Given the description of an element on the screen output the (x, y) to click on. 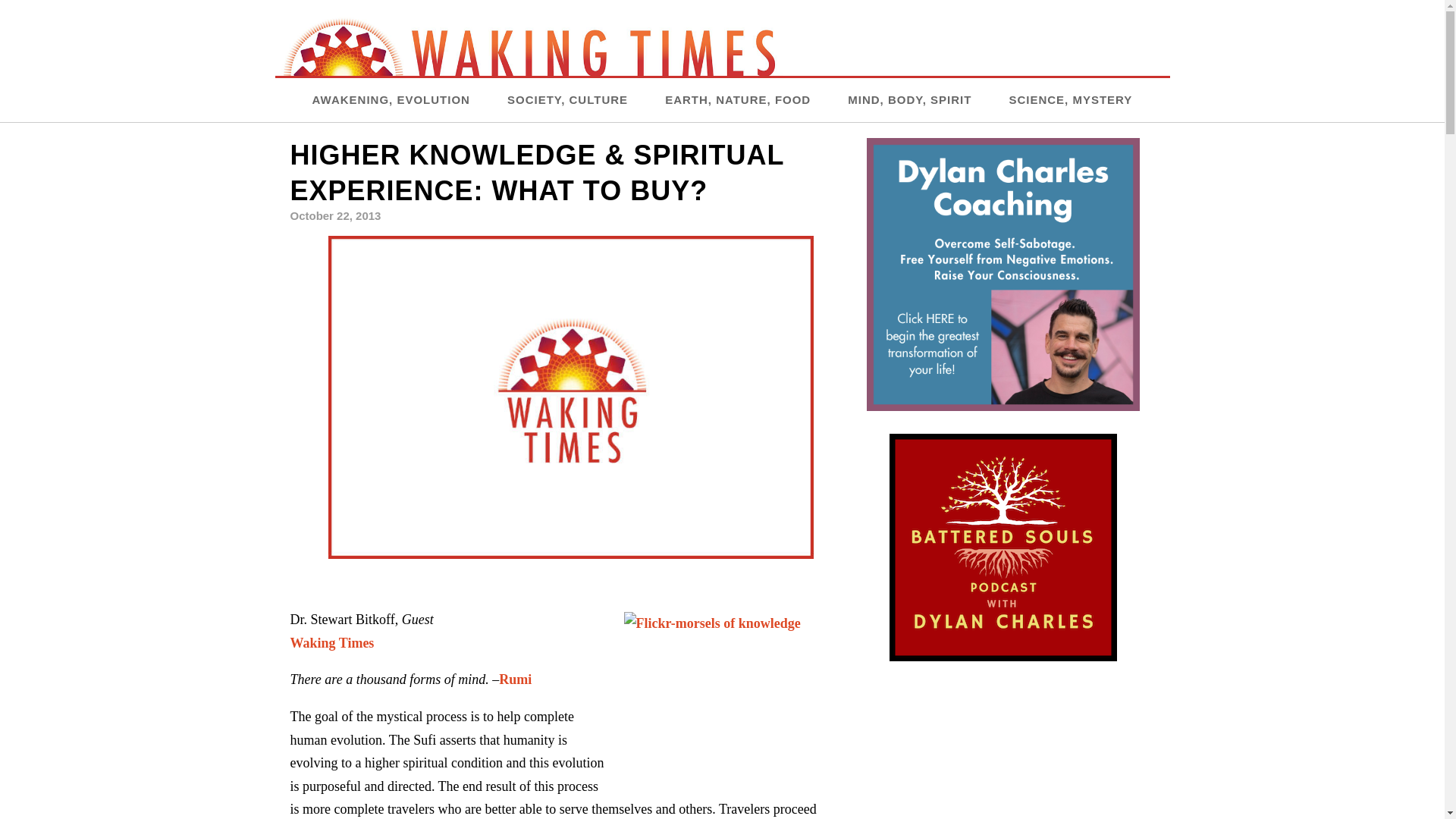
AWAKENING, EVOLUTION (391, 99)
MIND, BODY, SPIRIT (909, 99)
SOCIETY, CULTURE (566, 99)
Rumi (515, 679)
SCIENCE, MYSTERY (1070, 99)
EARTH, NATURE, FOOD (737, 99)
Waking Times (331, 642)
